Given the description of an element on the screen output the (x, y) to click on. 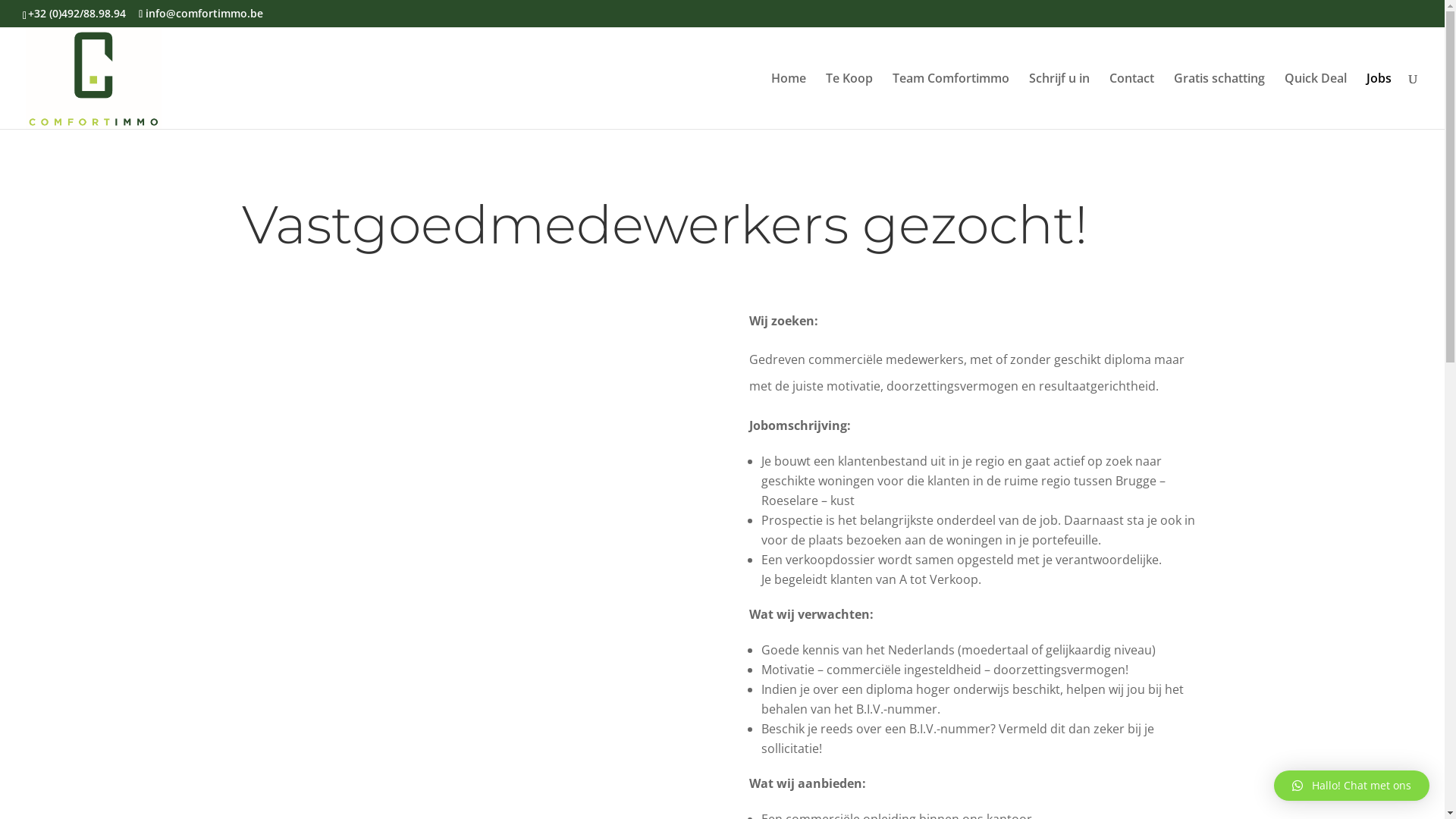
Schrijf u in Element type: text (1059, 100)
Jobs Element type: text (1378, 100)
Quick Deal Element type: text (1315, 100)
info@comfortimmo.be Element type: text (200, 13)
Te Koop Element type: text (848, 100)
Team Comfortimmo Element type: text (950, 100)
Hallo! Chat met ons Element type: text (1351, 785)
Home Element type: text (788, 100)
+32 (0)492/88.98.94 Element type: text (76, 13)
Gratis schatting Element type: text (1218, 100)
Contact Element type: text (1131, 100)
